Given the description of an element on the screen output the (x, y) to click on. 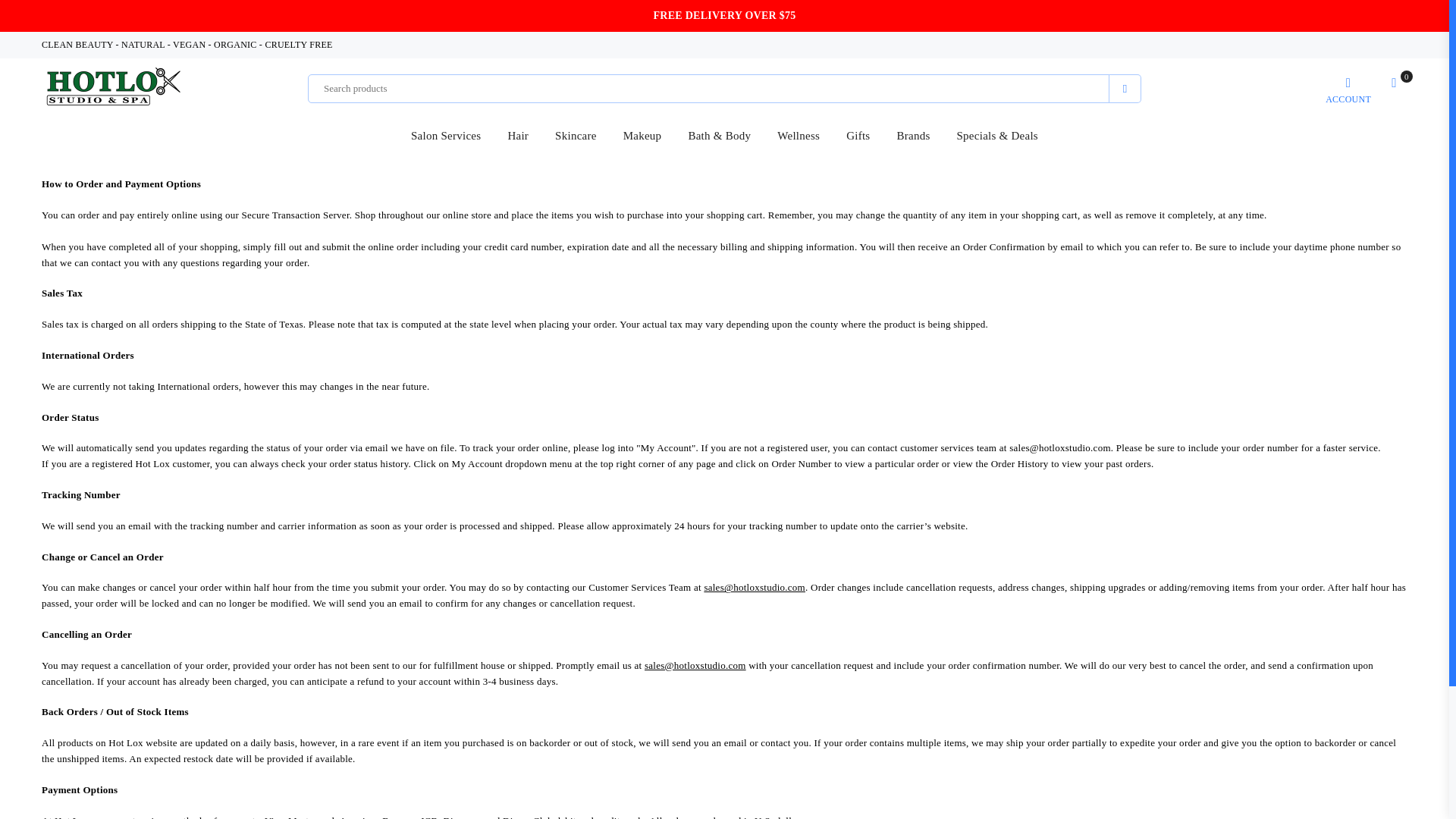
CART (1393, 88)
ACCOUNT (1348, 88)
0 (1393, 88)
Hair (518, 135)
Logout (1348, 88)
Submit (1125, 88)
Salon Services (445, 135)
